Given the description of an element on the screen output the (x, y) to click on. 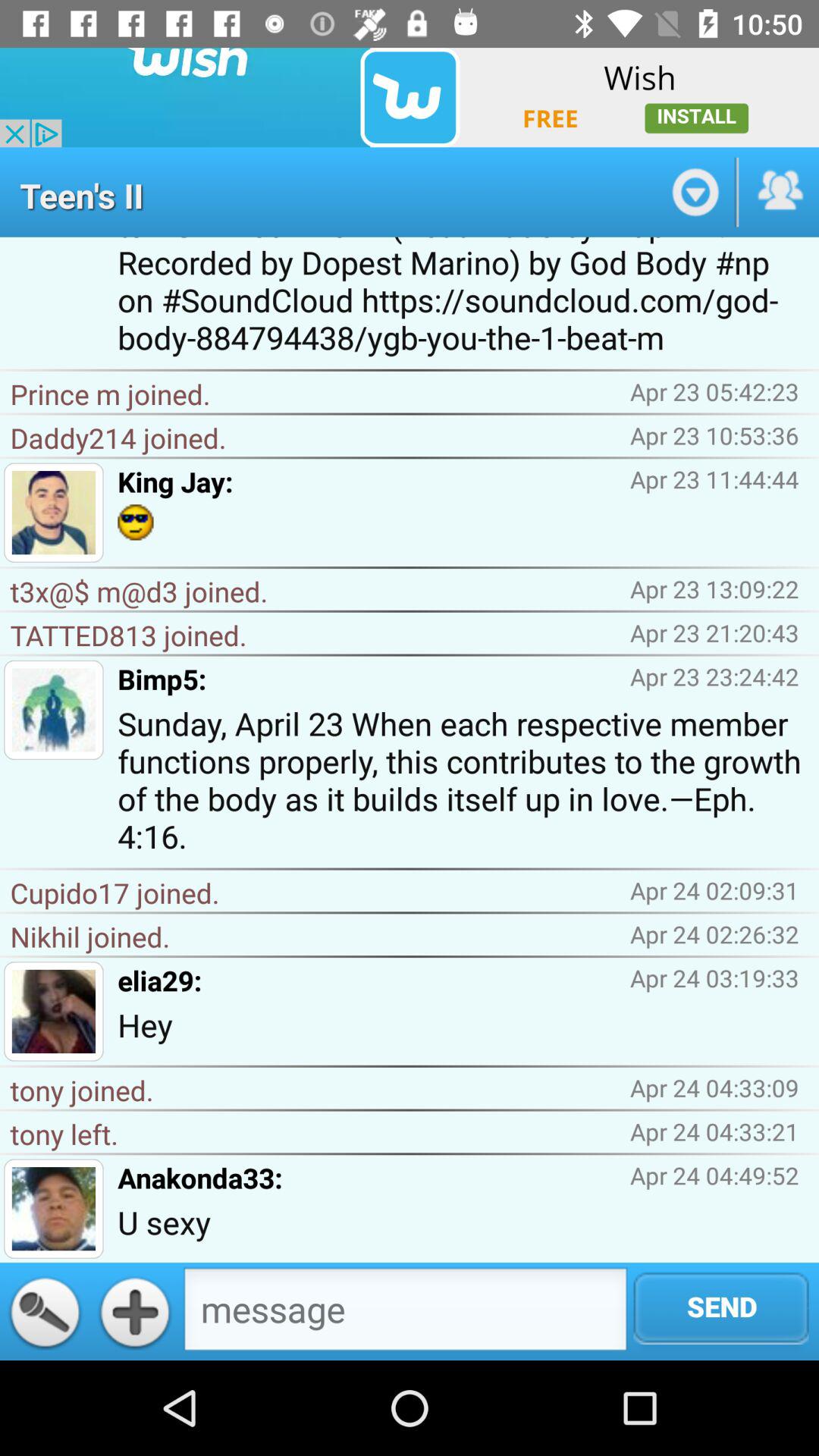
share (778, 191)
